Given the description of an element on the screen output the (x, y) to click on. 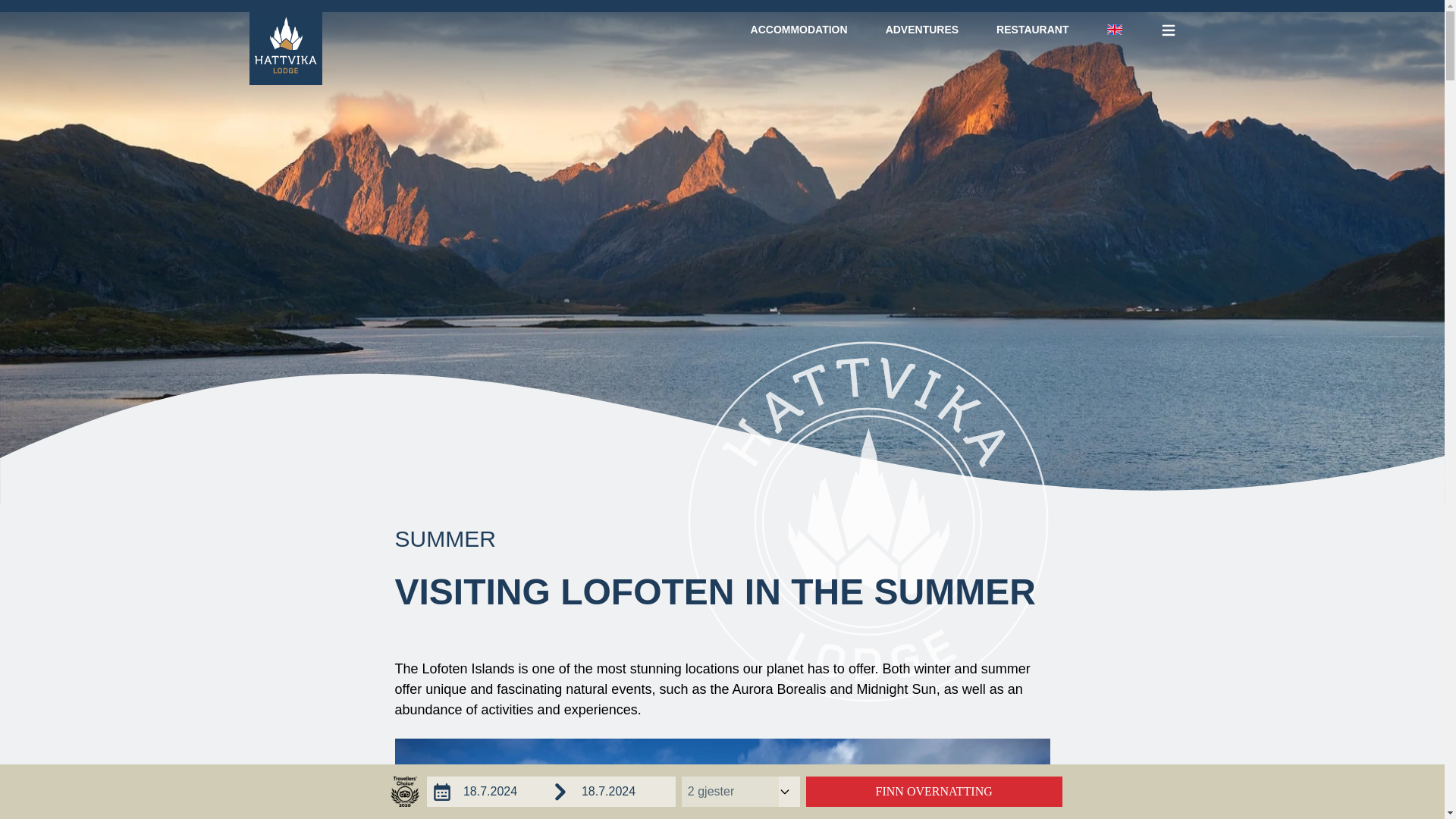
SUMMER (444, 538)
RESTAURANT (1031, 29)
FINN OVERNATTING (934, 791)
ADVENTURES (921, 29)
ACCOMMODATION (550, 791)
Travellers Choice Award 2020 (799, 29)
